Given the description of an element on the screen output the (x, y) to click on. 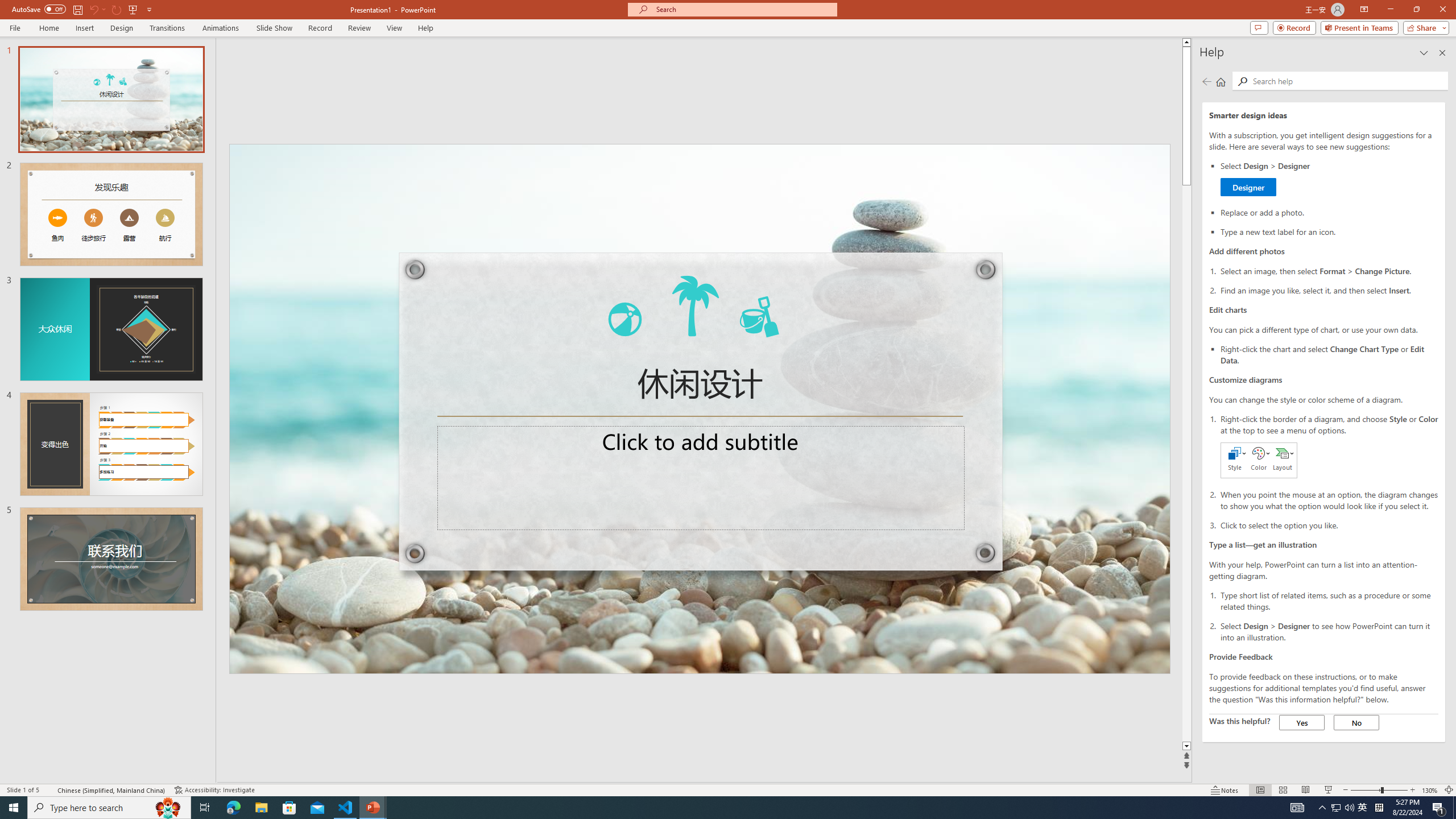
Previous page (1206, 81)
Type a new text label for an icon. (1329, 231)
Find an image you like, select it, and then select Insert. (1329, 289)
